Given the description of an element on the screen output the (x, y) to click on. 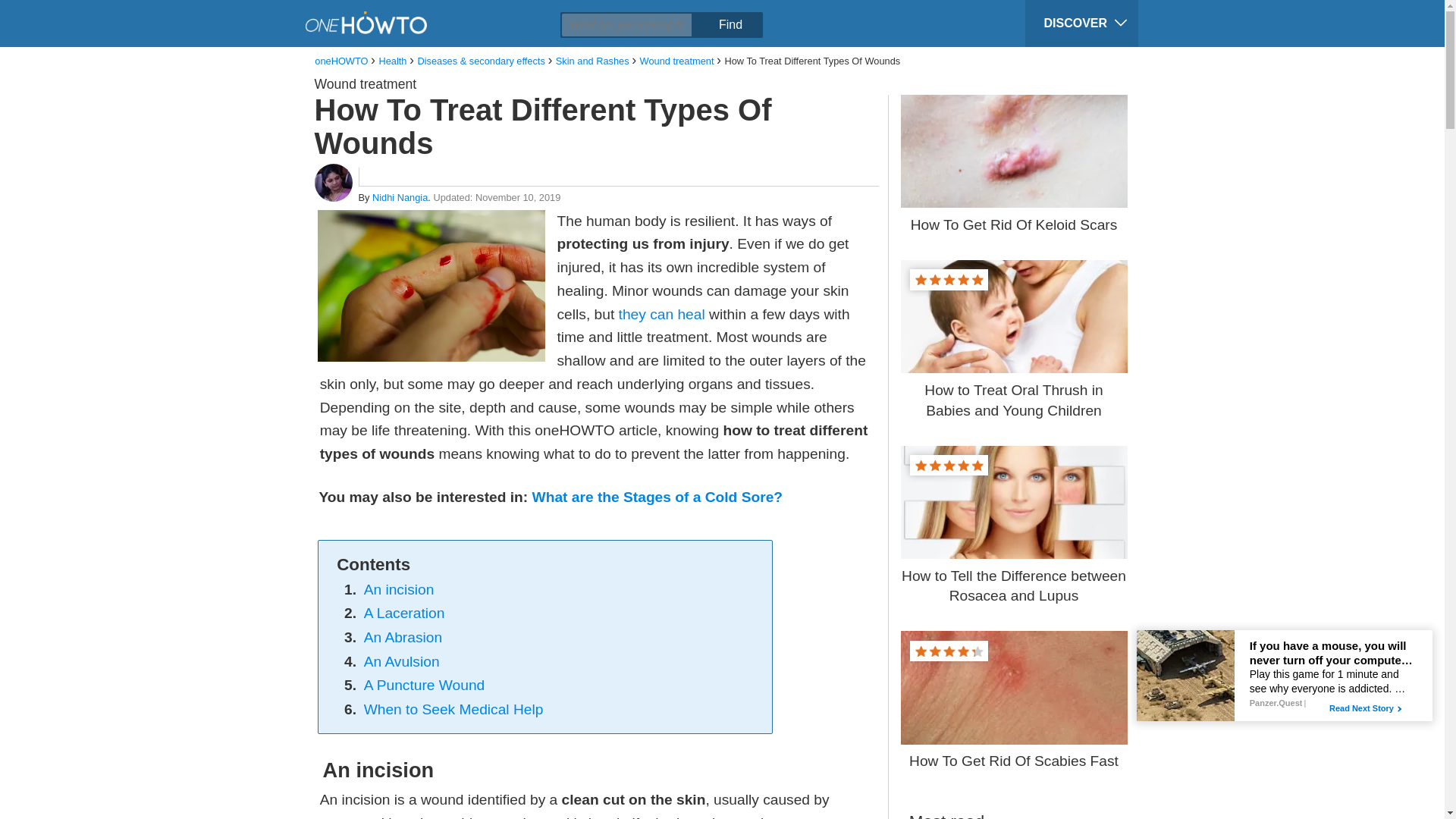
A Puncture Wound (424, 684)
A Laceration (404, 612)
they can heal (661, 314)
An Avulsion (401, 661)
Find (729, 24)
Wound treatment (365, 83)
Nidhi Nangia (400, 197)
Skin and Rashes (592, 60)
oneHOWTO (341, 60)
What are the Stages of a Cold Sore? (657, 496)
Health (392, 60)
An Abrasion (403, 637)
An incision (398, 589)
When to Seek Medical Help (453, 709)
Wound treatment (677, 60)
